Given the description of an element on the screen output the (x, y) to click on. 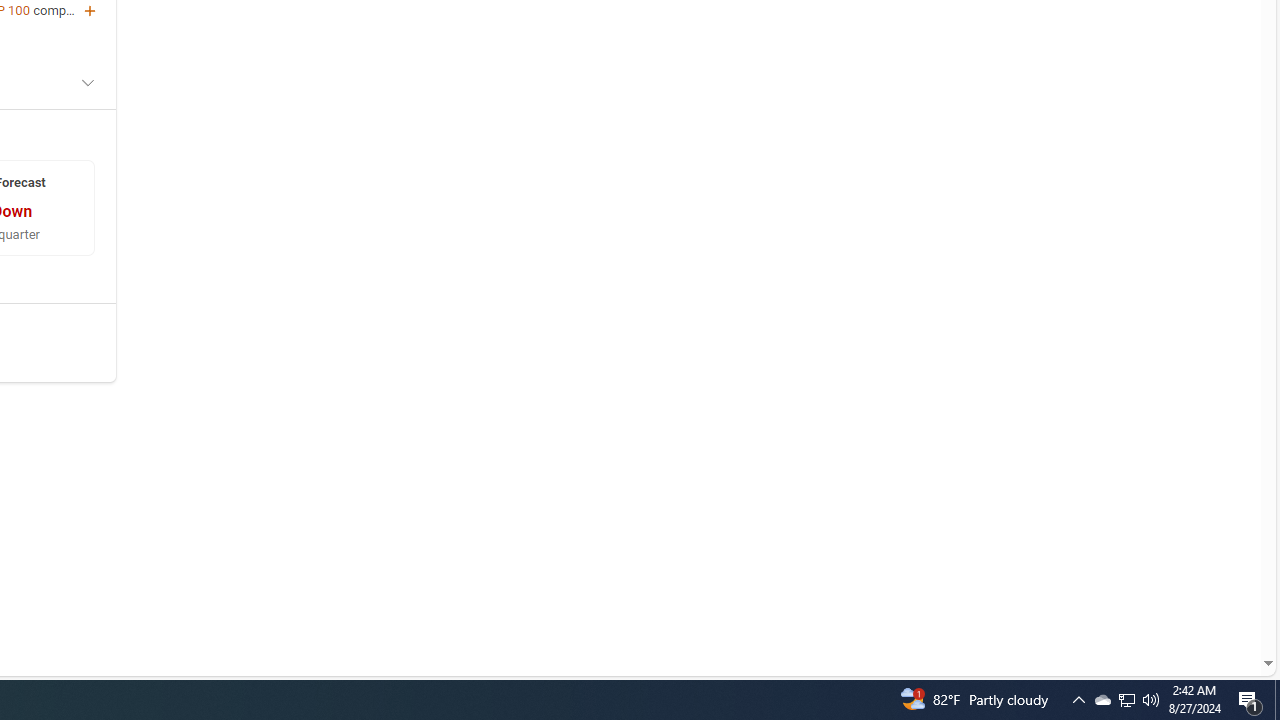
Search more (1222, 604)
AutomationID: mfa_root (1192, 603)
